Given the description of an element on the screen output the (x, y) to click on. 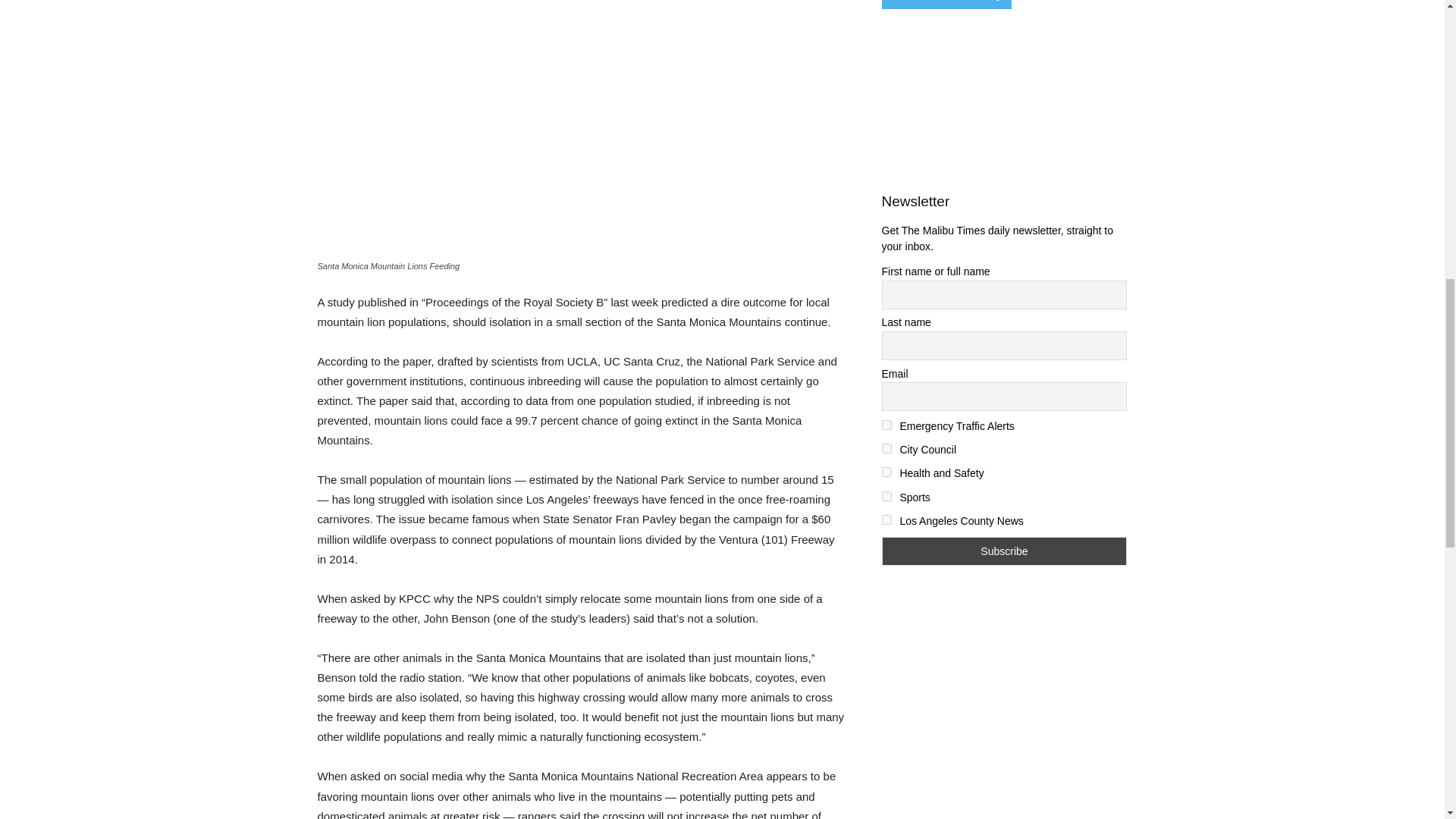
6 (885, 519)
5 (885, 496)
2 (885, 424)
3 (885, 448)
4 (885, 471)
Subscribe (1003, 551)
